Given the description of an element on the screen output the (x, y) to click on. 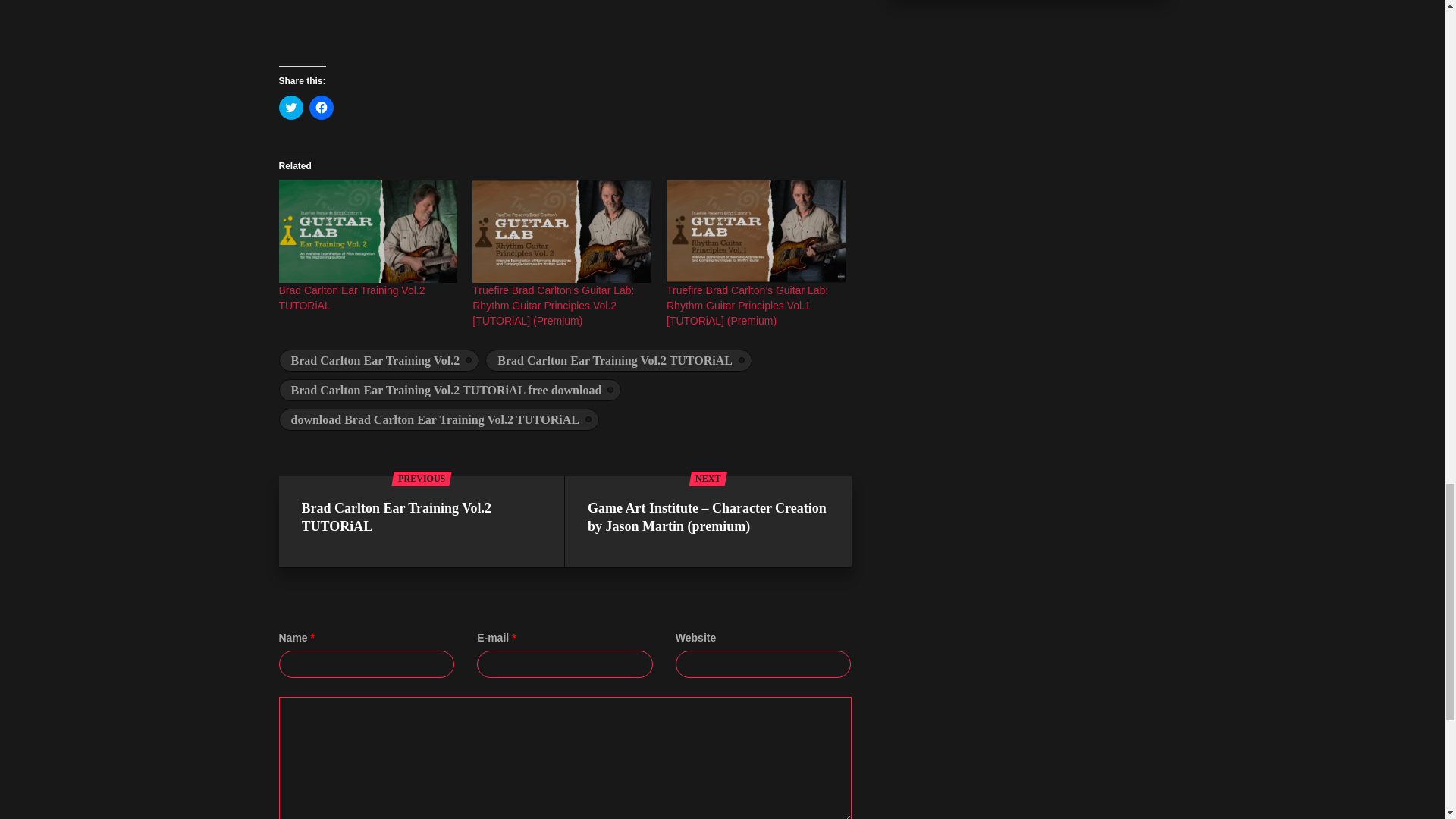
Brad Carlton Ear Training Vol.2 TUTORiAL free download (450, 390)
Brad Carlton Ear Training Vol.2 (379, 360)
Brad Carlton Ear Training Vol.2 TUTORiAL (368, 231)
Click to share on Facebook (320, 107)
Brad Carlton Ear Training Vol.2 TUTORiAL (618, 360)
Click to share on Twitter (290, 107)
download Brad Carlton Ear Training Vol.2 TUTORiAL (438, 419)
Brad Carlton Ear Training Vol.2 TUTORiAL (352, 298)
